Given the description of an element on the screen output the (x, y) to click on. 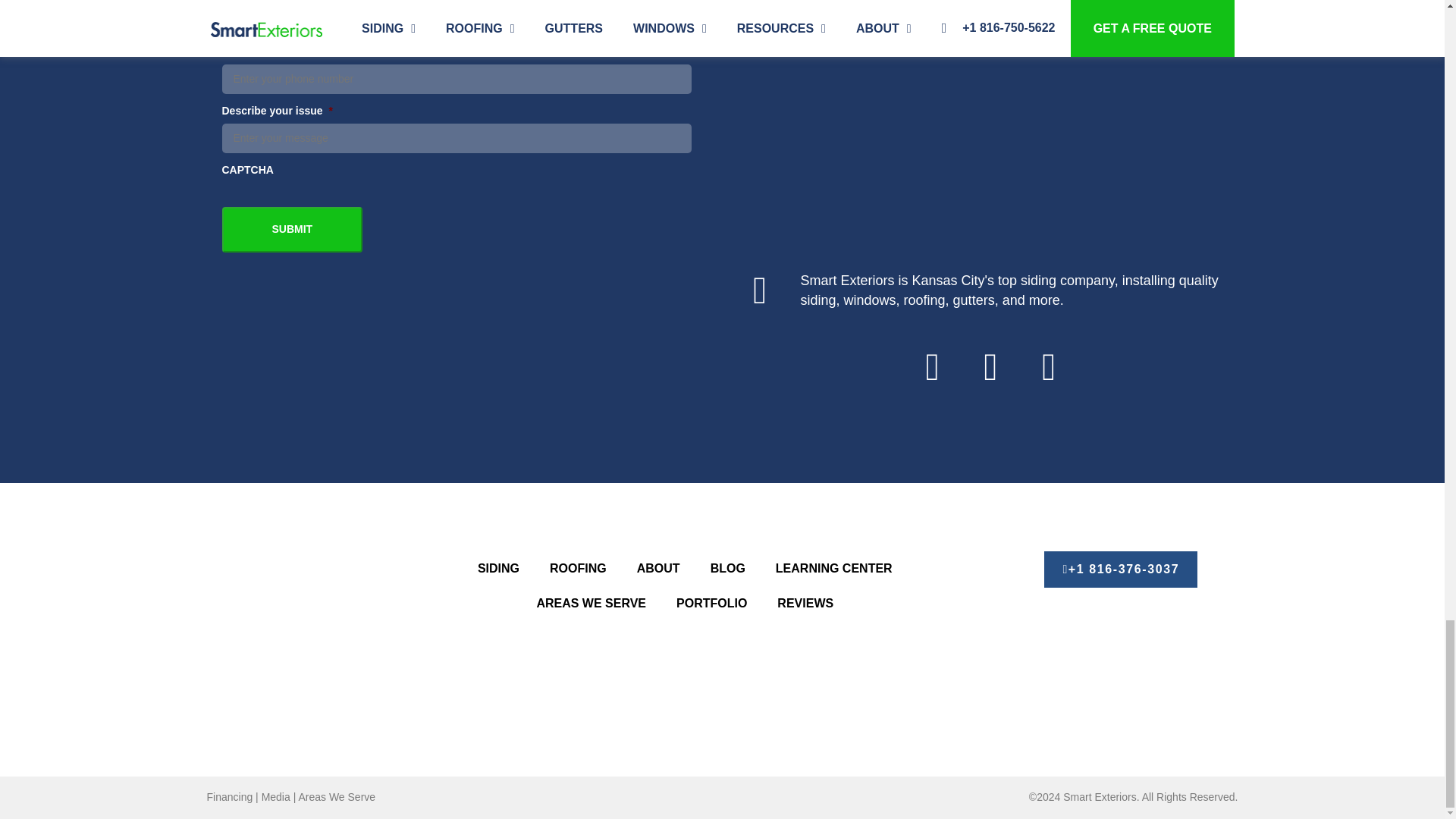
Submit (291, 229)
Smart Exteriors Kansas City (982, 124)
